Given the description of an element on the screen output the (x, y) to click on. 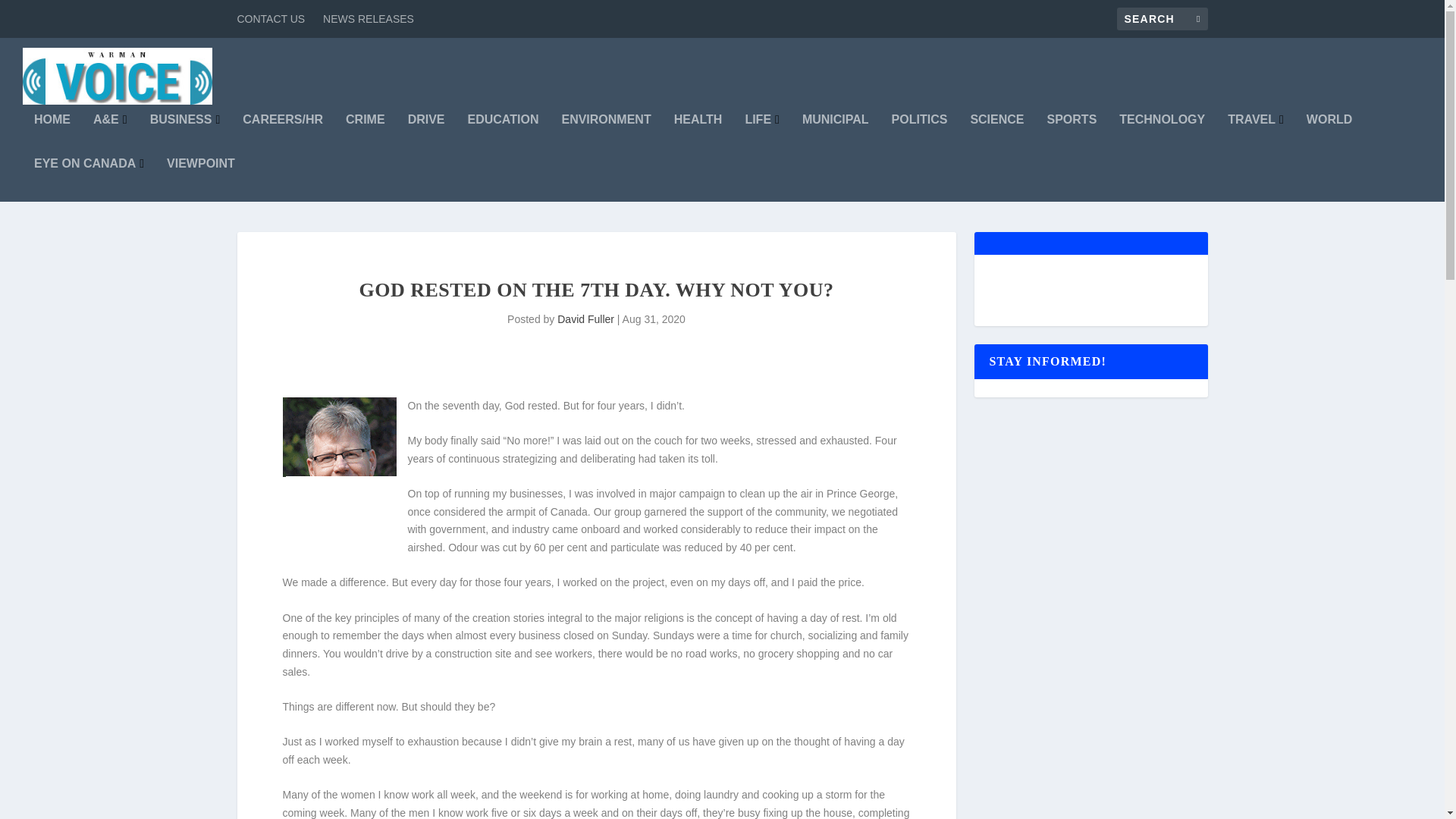
Search for: (1161, 18)
NEWS RELEASES (368, 18)
TRAVEL (1255, 135)
HEALTH (698, 135)
CRIME (365, 135)
BUSINESS (185, 135)
WORLD (1329, 135)
TECHNOLOGY (1162, 135)
CONTACT US (269, 18)
EDUCATION (502, 135)
POLITICS (919, 135)
EYE ON CANADA (88, 179)
SCIENCE (996, 135)
MUNICIPAL (835, 135)
ENVIRONMENT (605, 135)
